Given the description of an element on the screen output the (x, y) to click on. 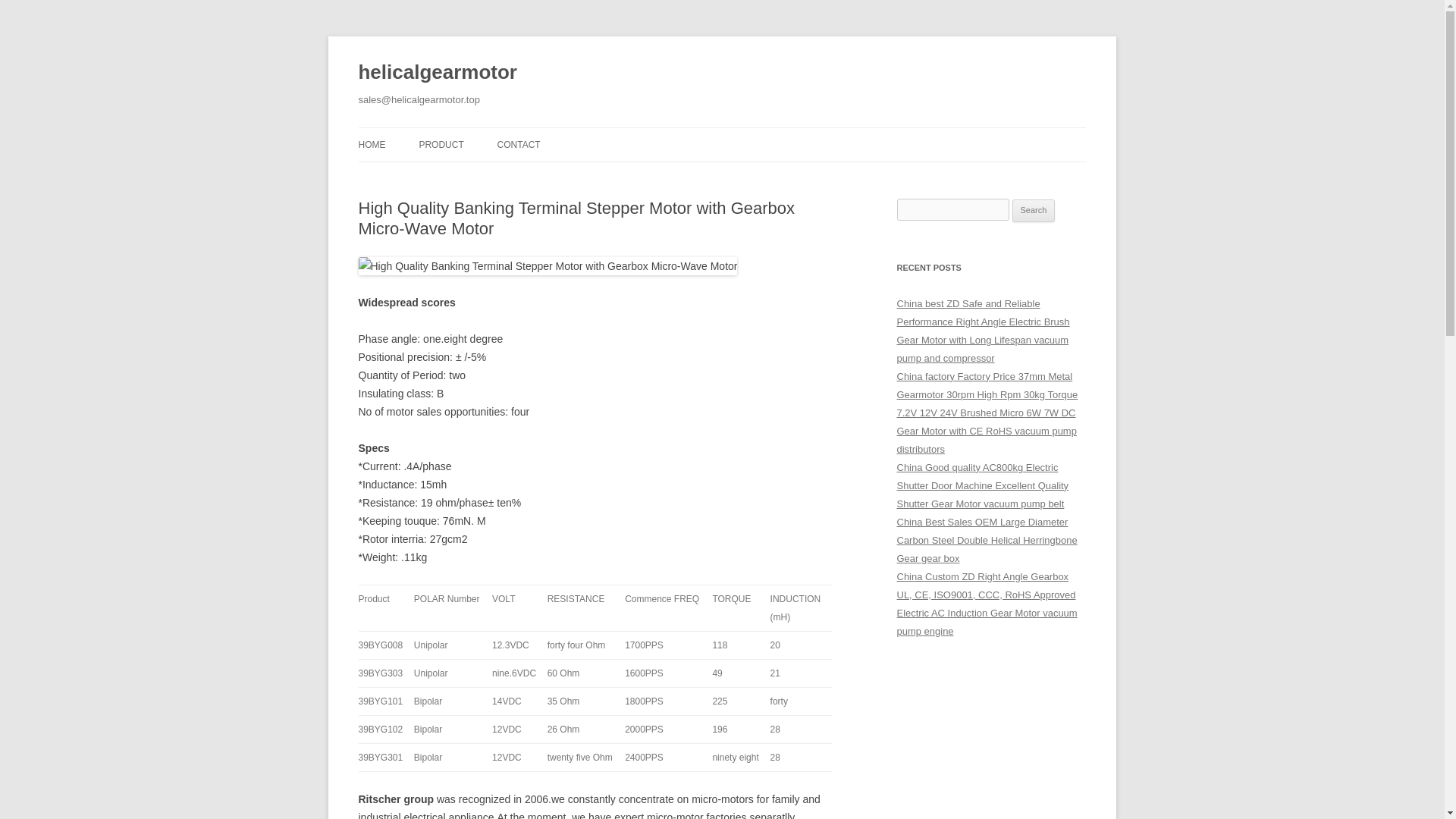
CONTACT (518, 144)
Search (1033, 210)
PRODUCT (441, 144)
helicalgearmotor (437, 72)
helicalgearmotor (437, 72)
Search (1033, 210)
